Given the description of an element on the screen output the (x, y) to click on. 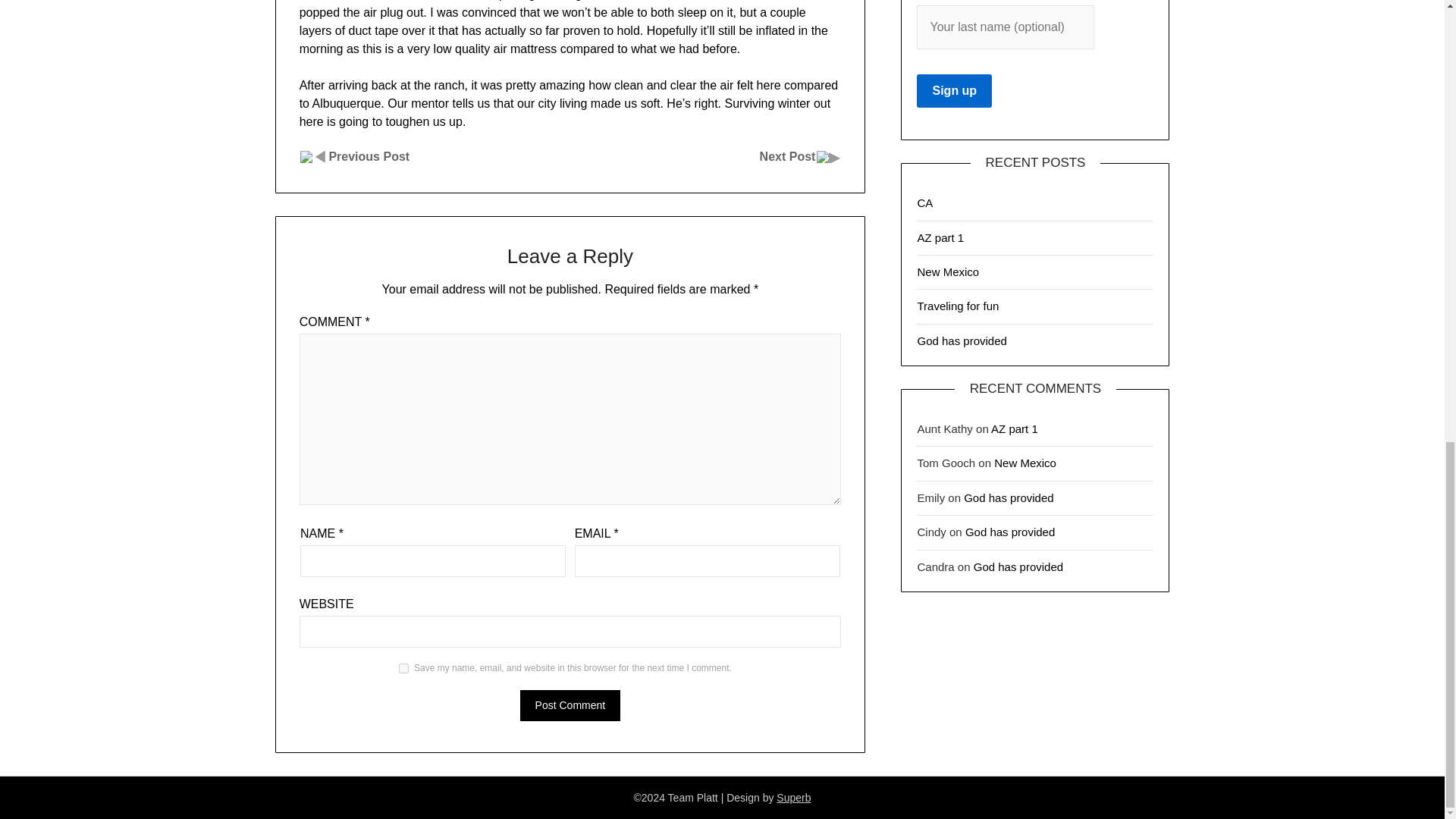
Superb (793, 797)
Post Comment (570, 705)
Sign up (954, 90)
yes (403, 668)
Post Comment (570, 705)
A day in ABQ (369, 155)
Next Post (787, 155)
Previous Post (369, 155)
New Mexico (1025, 462)
Sign up (954, 90)
Traveling for fun (957, 305)
AZ part 1 (940, 237)
God has provided (1009, 531)
AZ part 1 (1014, 428)
God has provided (961, 340)
